Given the description of an element on the screen output the (x, y) to click on. 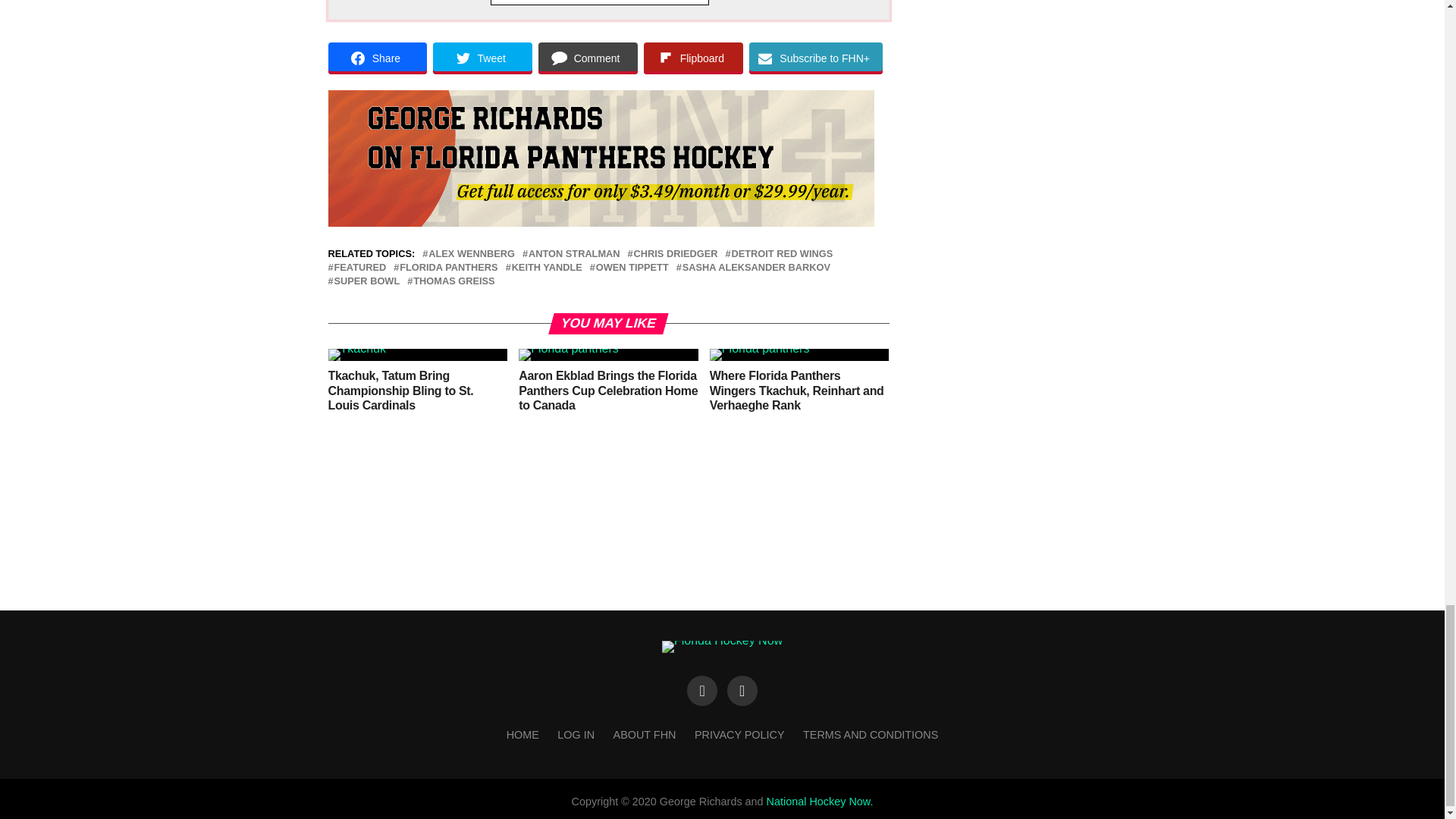
Share on Flipboard (692, 58)
Share on Share (376, 58)
Share on Tweet (482, 58)
Share on Comment (587, 58)
